Given the description of an element on the screen output the (x, y) to click on. 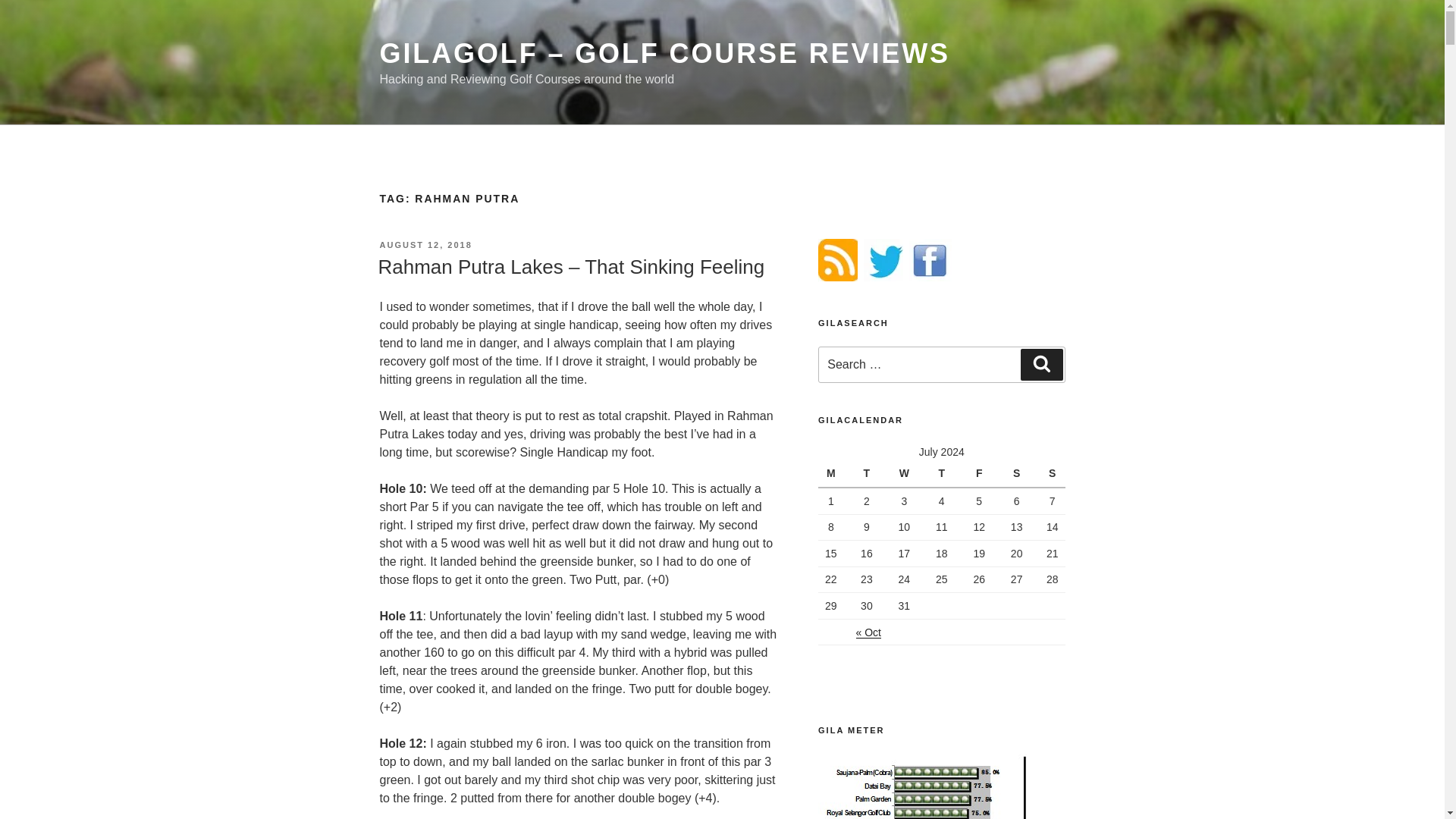
Search (1041, 364)
Sunday (1049, 473)
Monday (832, 473)
Thursday (941, 473)
Friday (978, 473)
Saturday (1016, 473)
Tuesday (866, 473)
Wednesday (904, 473)
AUGUST 12, 2018 (424, 244)
